Given the description of an element on the screen output the (x, y) to click on. 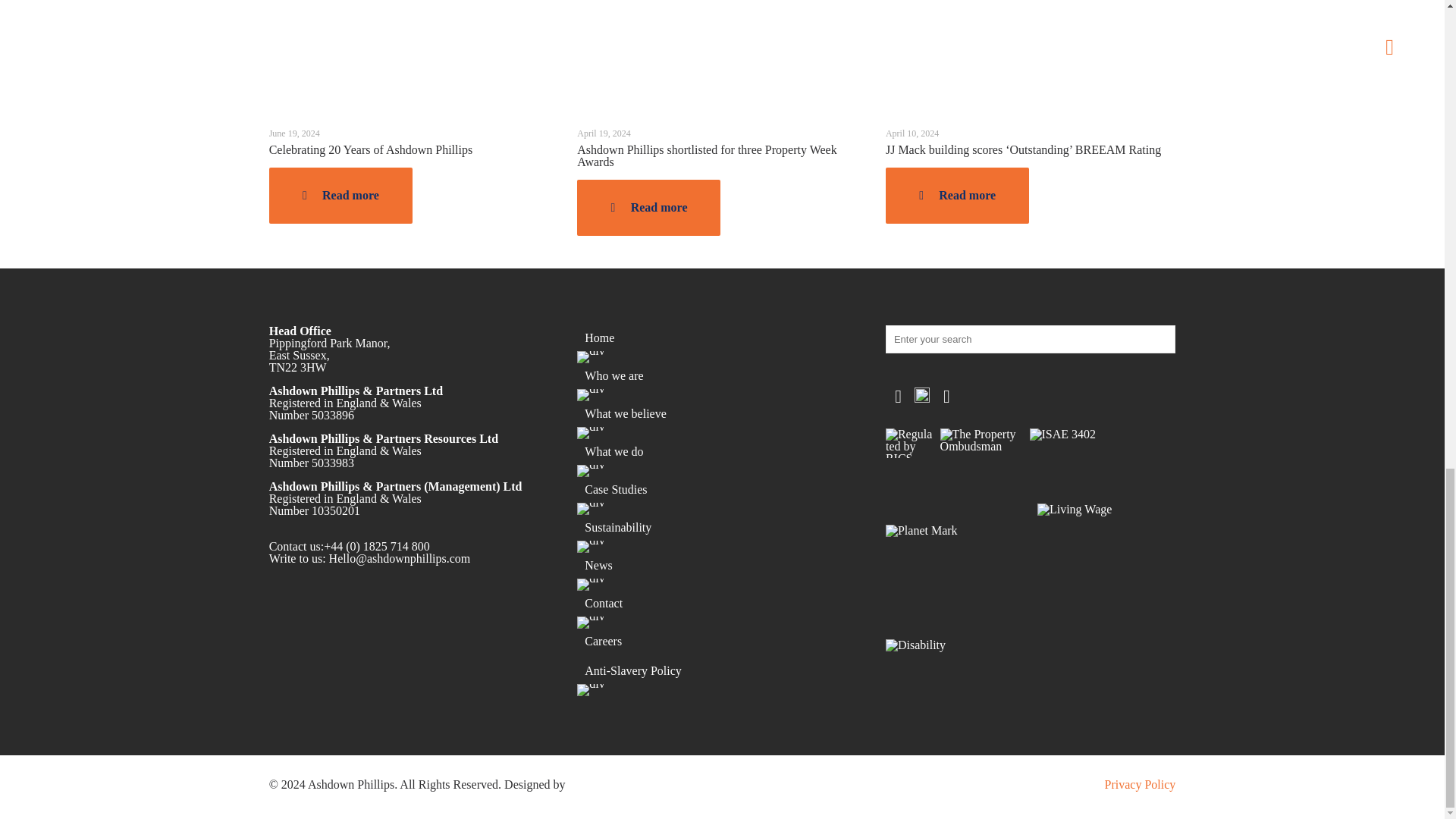
Celebrating 20 Years of Ashdown Phillips (370, 149)
Ashdown Phillips shortlisted for three Property Week Awards (705, 155)
Read more (648, 207)
Read more (340, 195)
